Given the description of an element on the screen output the (x, y) to click on. 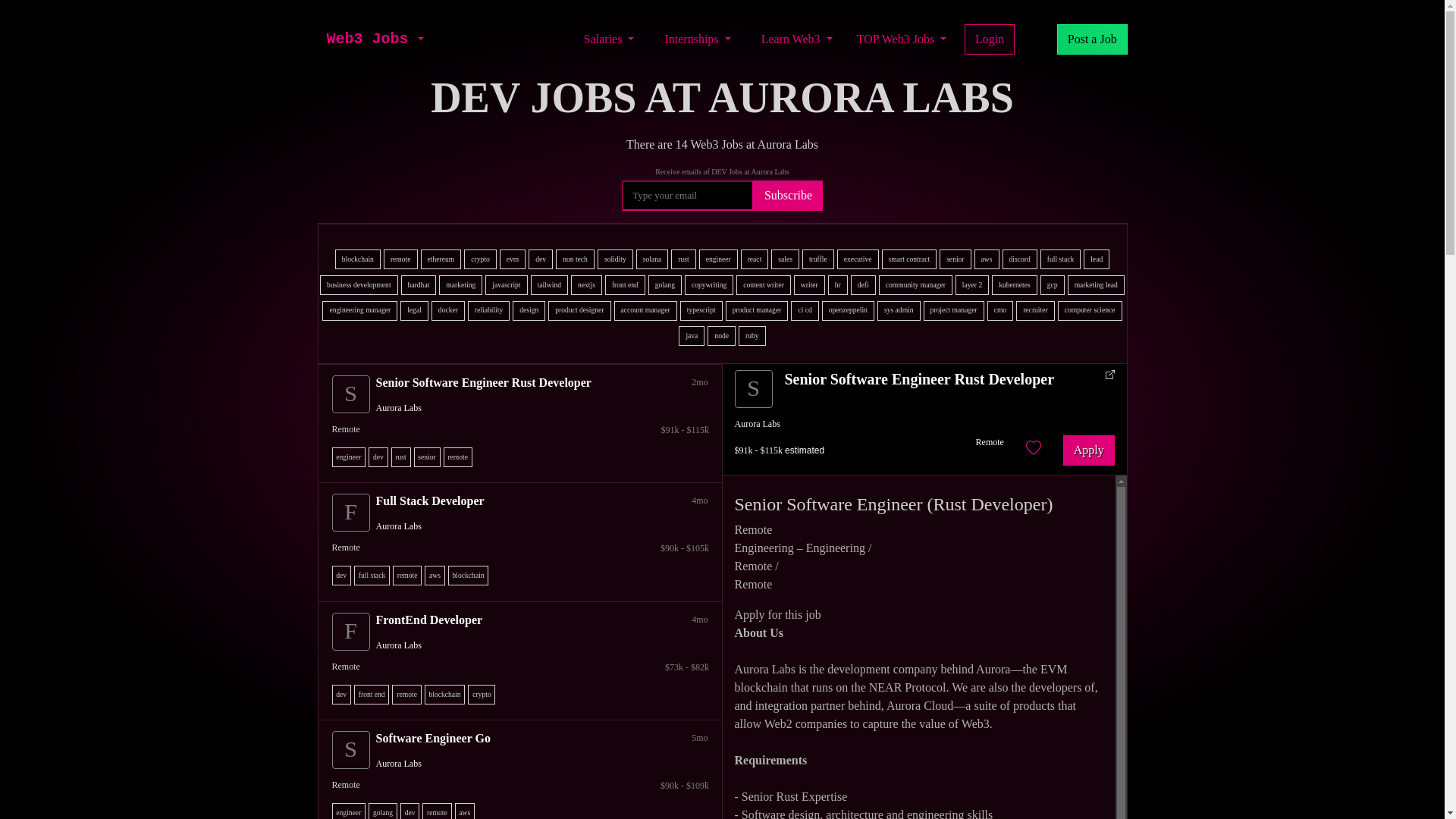
Estimated salary based on similar jobs (522, 429)
Web3 Jobs (366, 39)
Internships (697, 39)
Salaries (609, 39)
Estimated compensation based on similar jobs (778, 449)
Learn Web3 (796, 39)
Estimated salary based on similar jobs (522, 785)
Estimated salary based on similar jobs (522, 548)
Subscribe (788, 195)
Estimated salary based on similar jobs (522, 667)
